Given the description of an element on the screen output the (x, y) to click on. 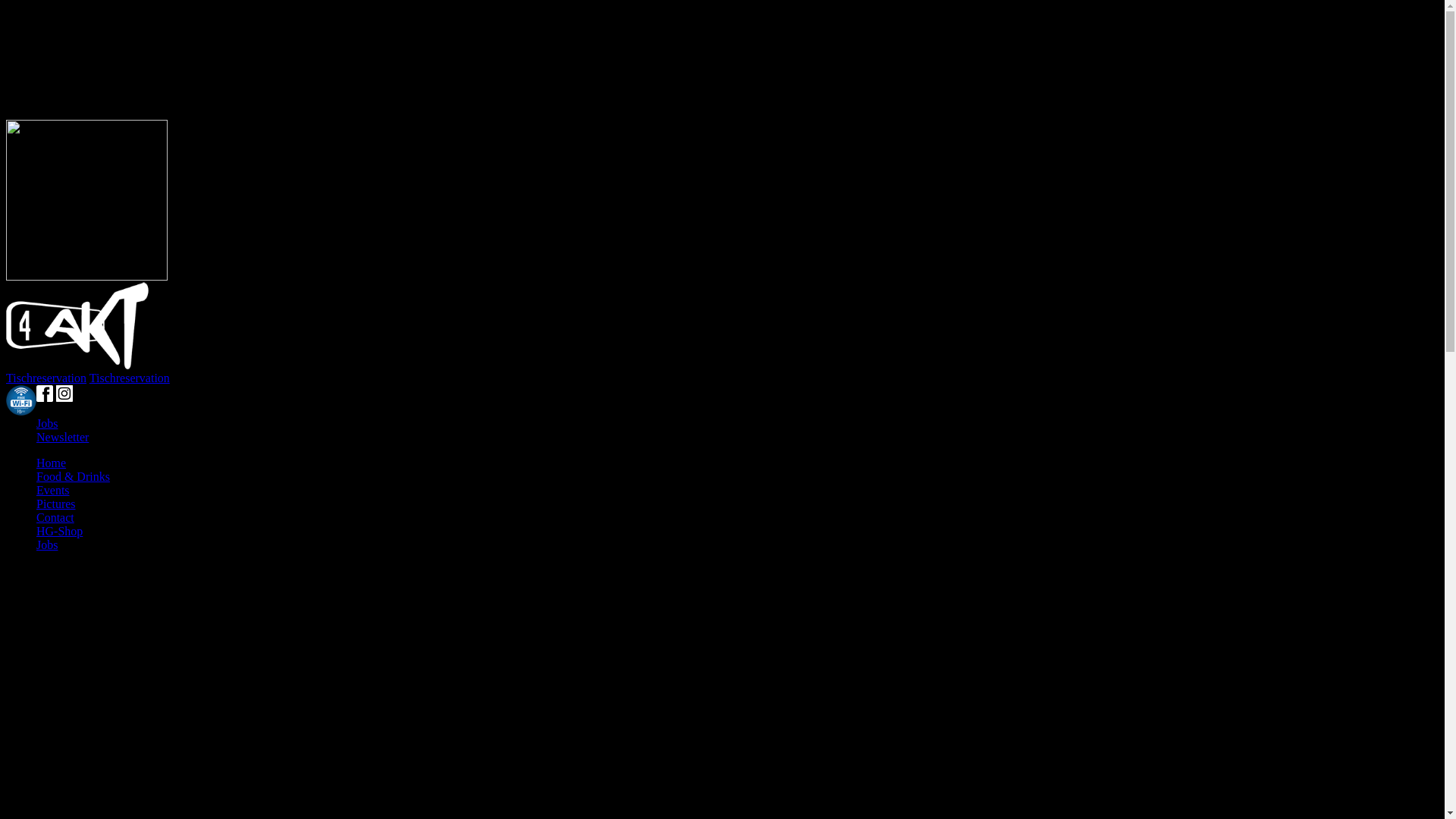
Newsletter Element type: text (62, 436)
Tischreservation Element type: text (46, 377)
HG-Shop Element type: text (59, 530)
Tischreservation Element type: text (129, 377)
Jobs Element type: text (46, 423)
Food & Drinks Element type: text (72, 476)
Contact Element type: text (55, 517)
Jobs Element type: text (46, 544)
Pictures Element type: text (55, 503)
Home Element type: text (50, 462)
Events Element type: text (52, 489)
